Given the description of an element on the screen output the (x, y) to click on. 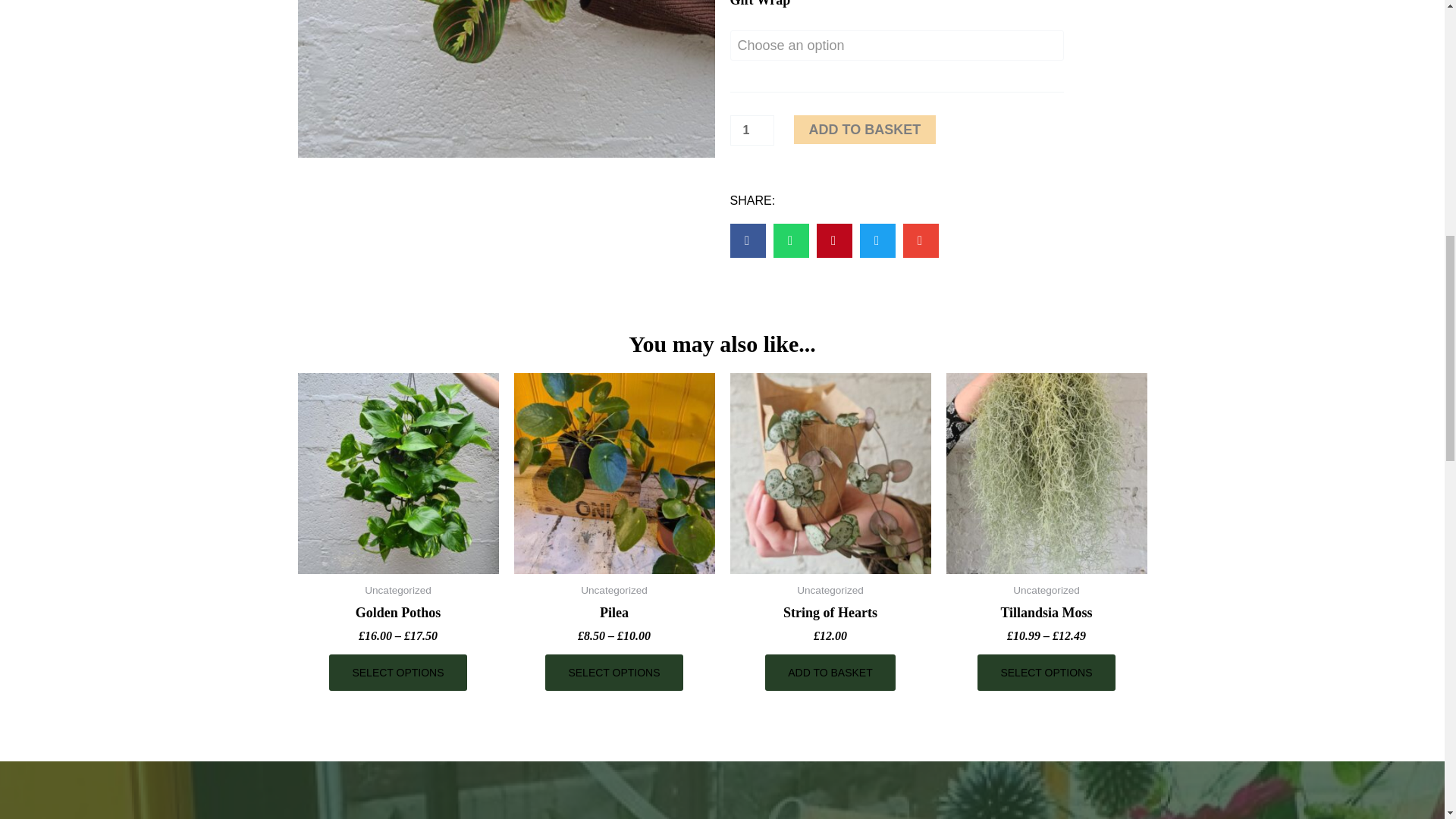
prayer plant 2 (505, 78)
ADD TO BASKET (864, 129)
Golden Pothos (397, 616)
SELECT OPTIONS (613, 672)
Tillandsia Moss (1046, 616)
1 (751, 130)
SELECT OPTIONS (1045, 672)
SELECT OPTIONS (397, 672)
Pilea (613, 616)
ADD TO BASKET (830, 672)
String of Hearts (829, 616)
